Given the description of an element on the screen output the (x, y) to click on. 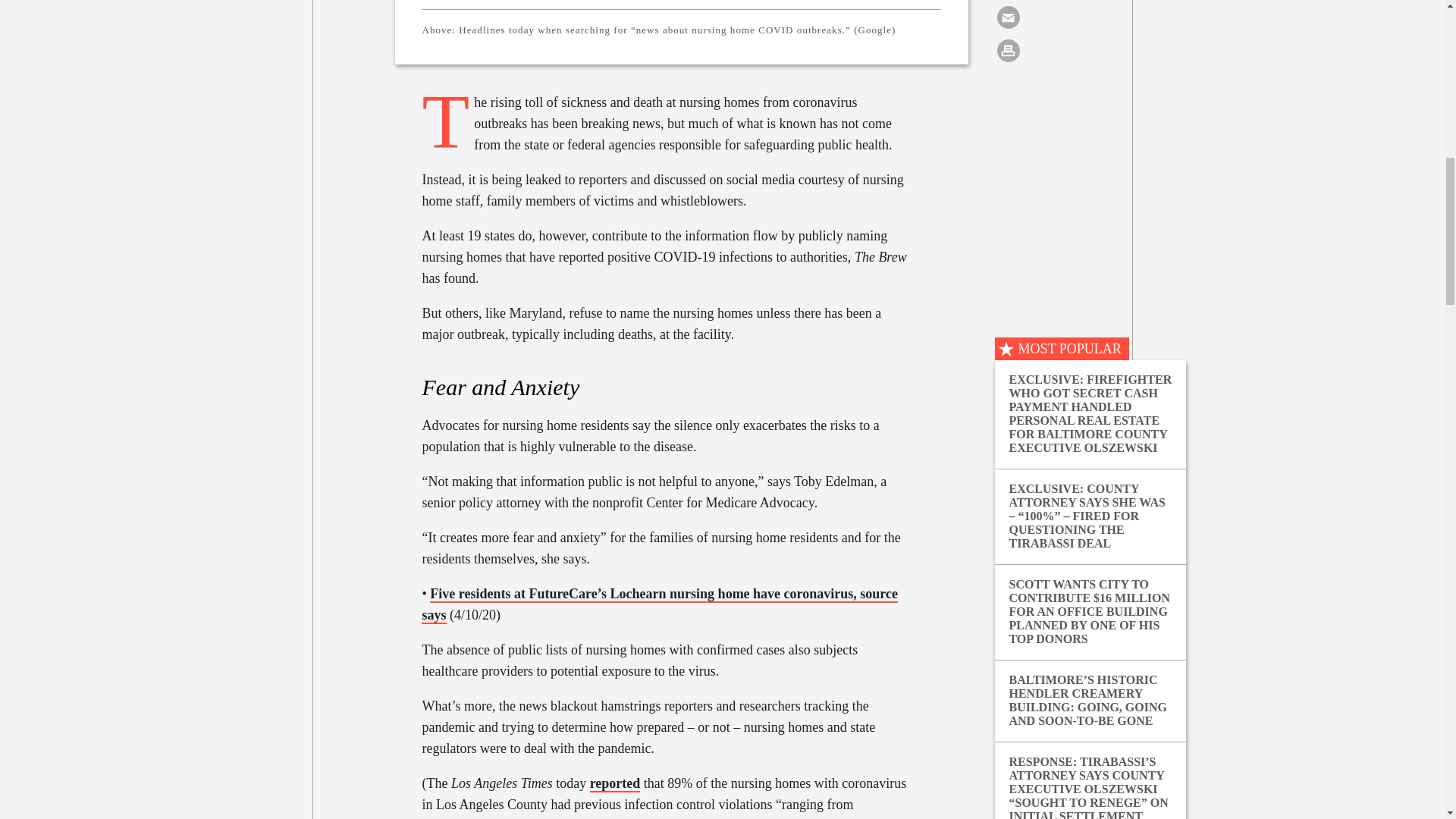
Email this article (1008, 17)
reported (614, 783)
Print this article (1008, 50)
